Given the description of an element on the screen output the (x, y) to click on. 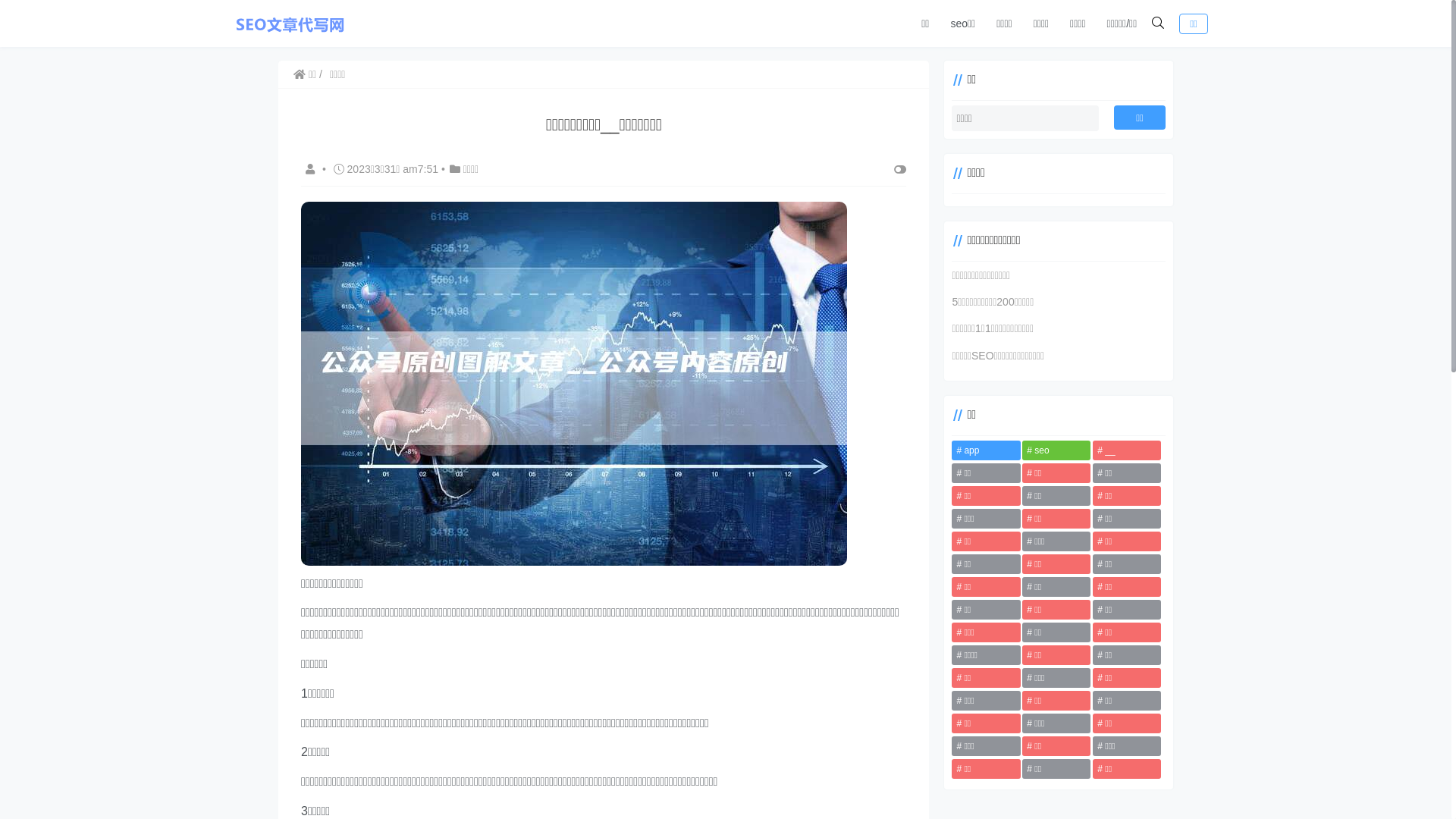
__ Element type: text (1126, 450)
app Element type: text (985, 450)
seo Element type: text (1056, 450)
